Given the description of an element on the screen output the (x, y) to click on. 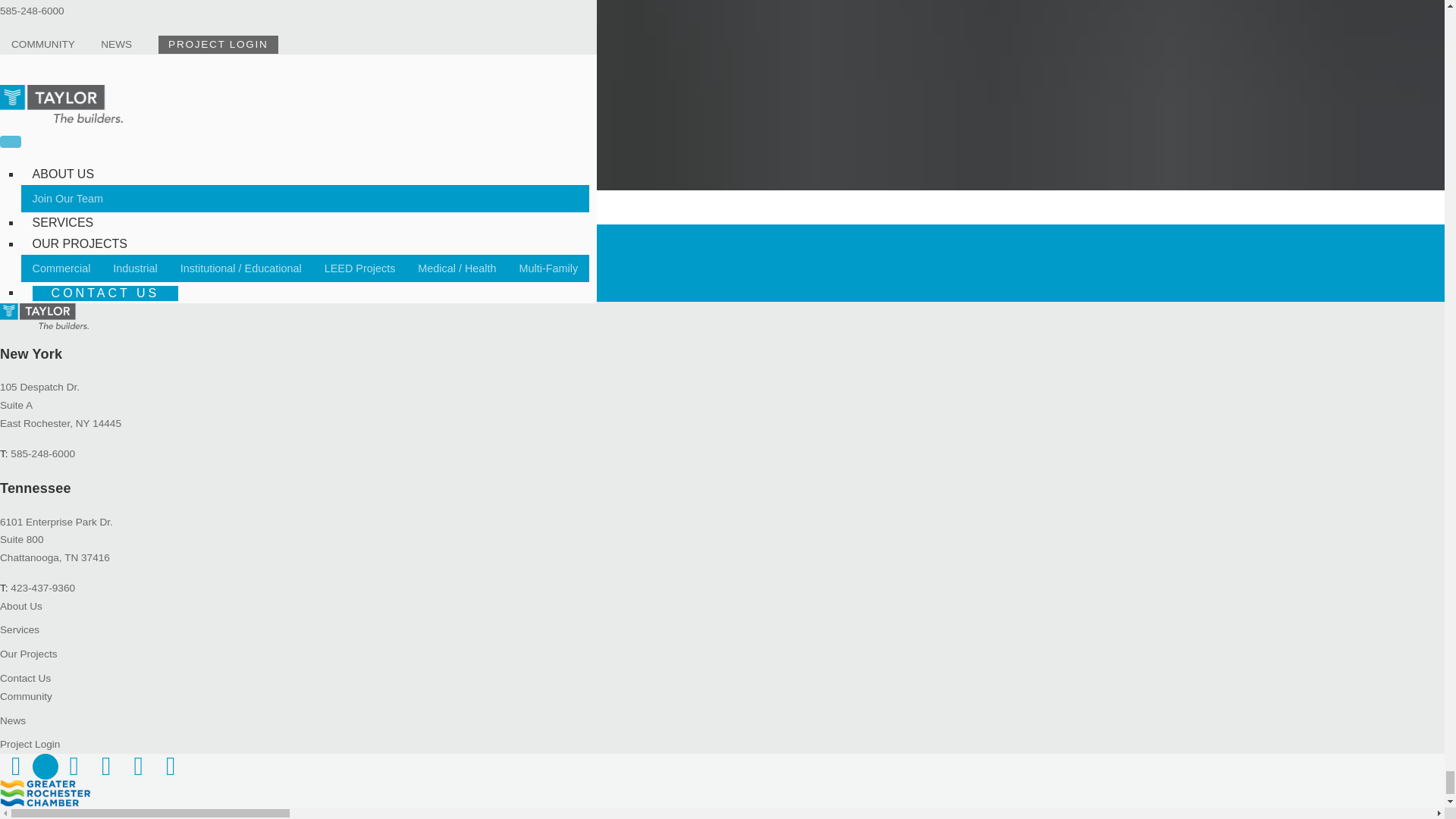
Get Directions (60, 387)
Get Directions (56, 521)
Call Us (42, 453)
Call Us (42, 587)
